Given the description of an element on the screen output the (x, y) to click on. 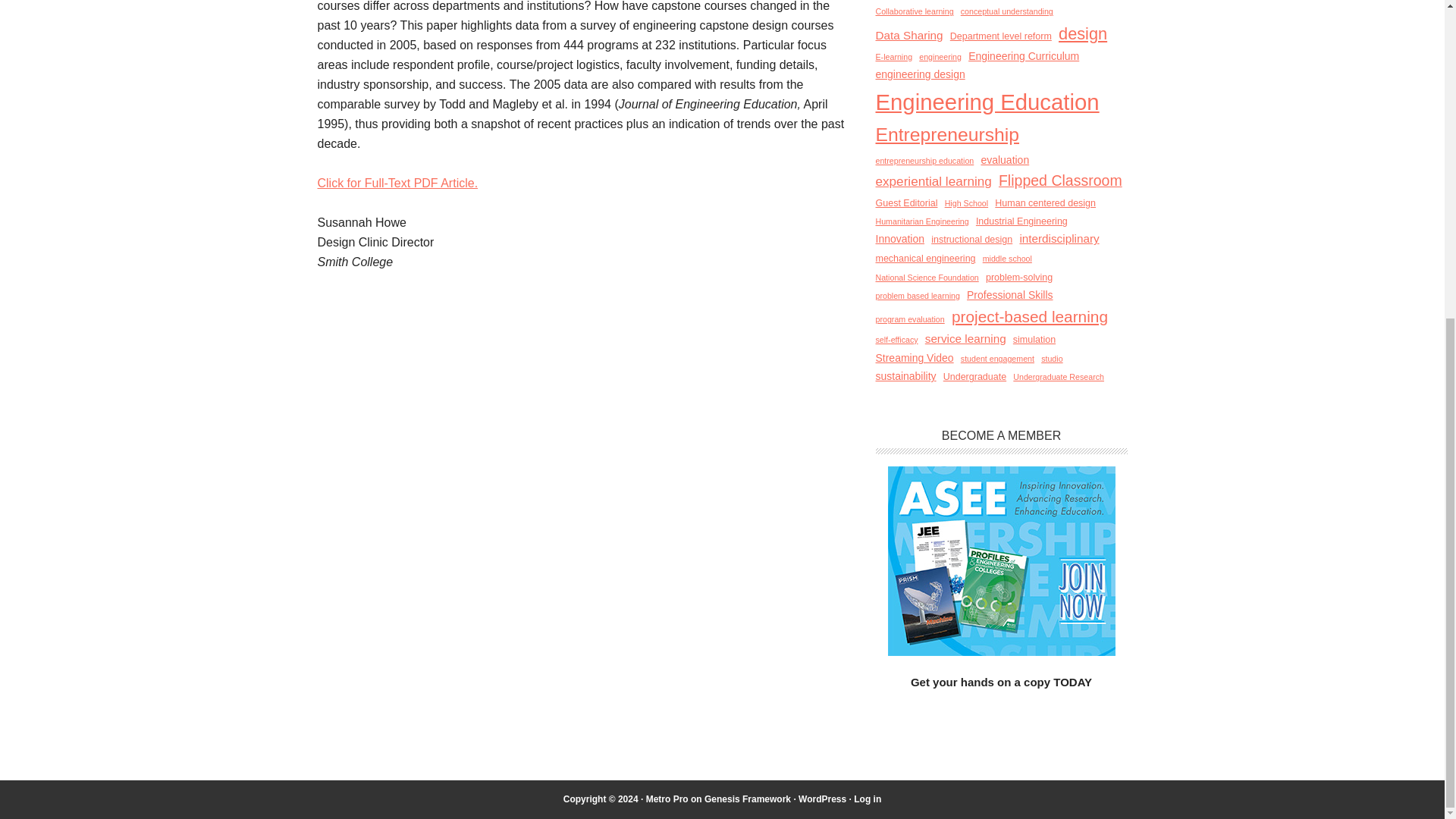
Flipped Classroom (1060, 180)
Engineering Curriculum (1023, 56)
Data Sharing (908, 35)
Collaborative learning (914, 11)
design (1082, 33)
Click for Full-Text PDF Article. (397, 182)
Guest Editorial (906, 202)
Blended learning (910, 0)
Entrepreneurship (947, 134)
Engineering Education (987, 102)
Human centered design (1045, 202)
entrepreneurship education (924, 160)
High School (966, 203)
experiential learning (933, 181)
civil engineering (1036, 0)
